Given the description of an element on the screen output the (x, y) to click on. 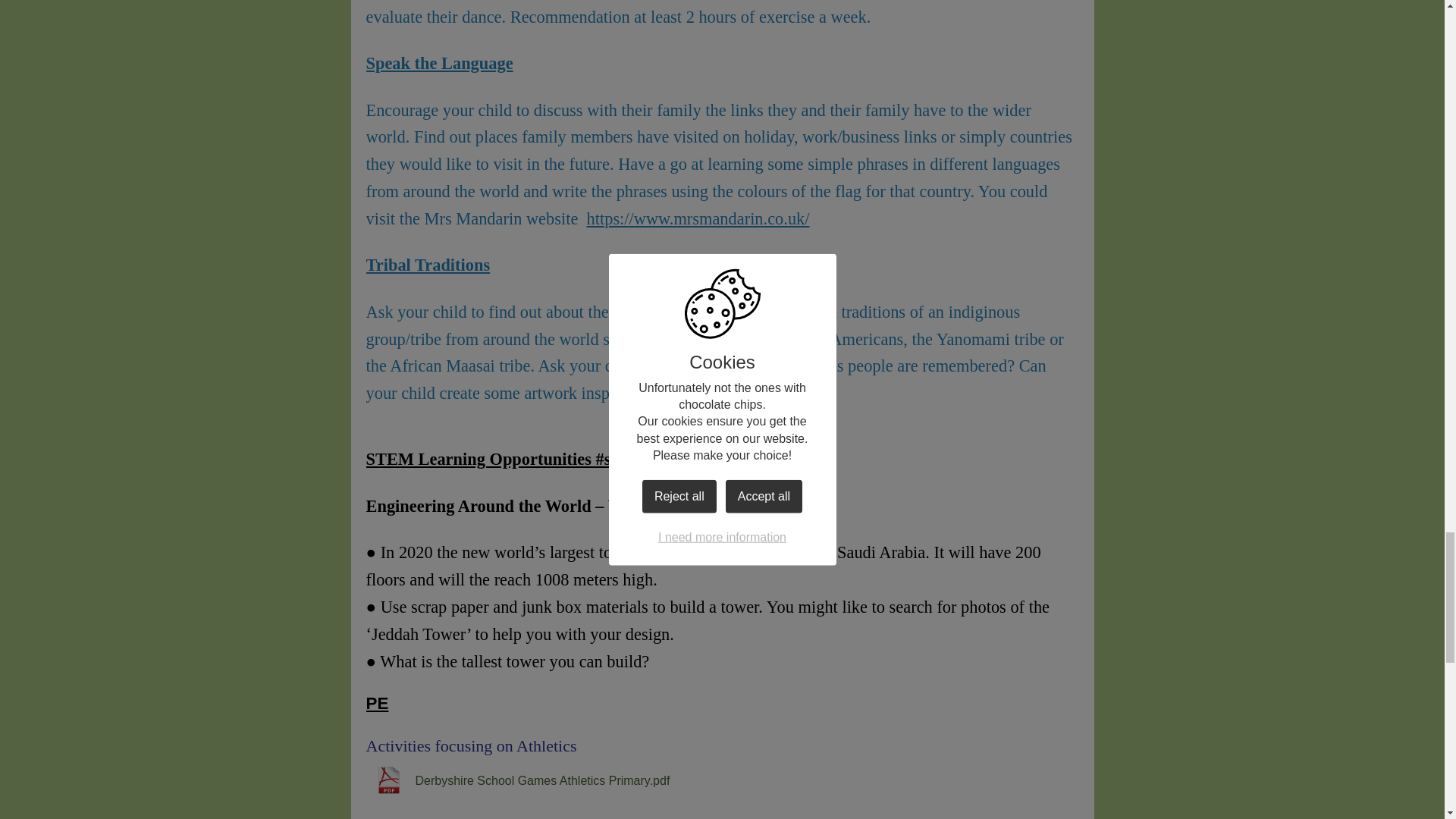
Derbyshire School Games Athletics Primary.pdf (517, 779)
